Given the description of an element on the screen output the (x, y) to click on. 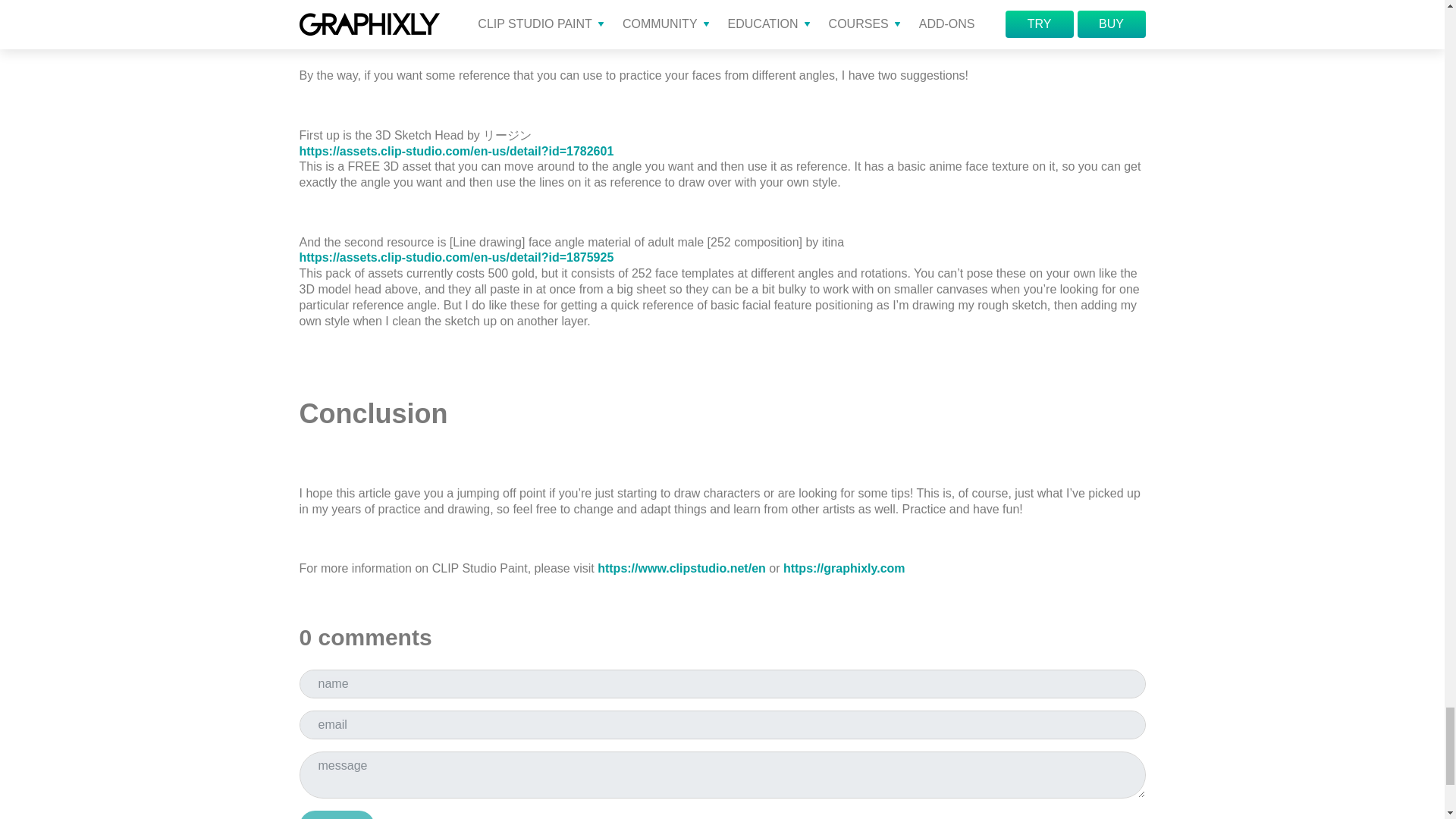
post (336, 814)
